Given the description of an element on the screen output the (x, y) to click on. 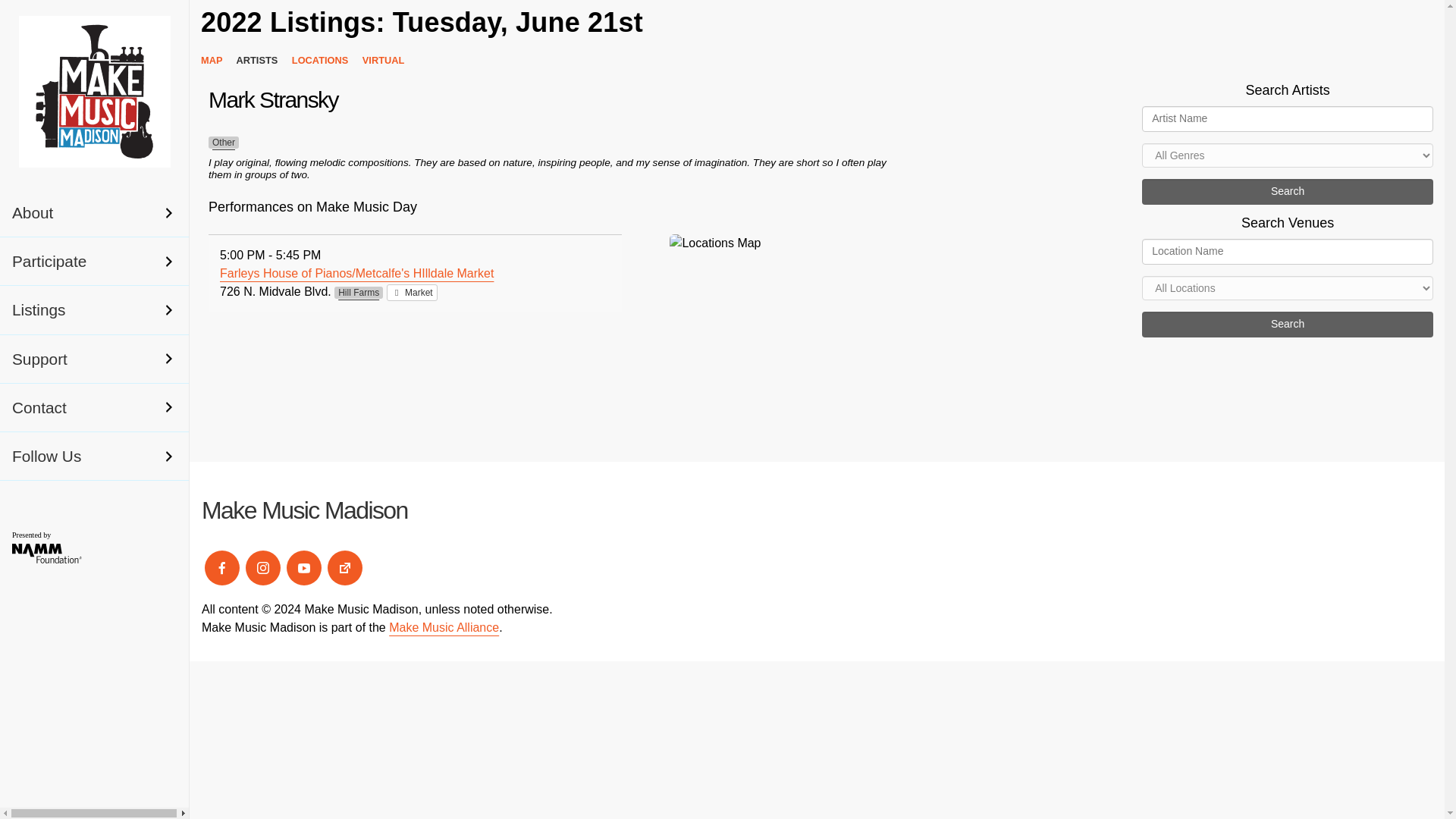
Presented by (56, 558)
Make Music Madison (304, 510)
Search (1286, 191)
Facebook (222, 567)
Instagram (263, 567)
Presented by (56, 546)
MAP (216, 60)
Participate (94, 261)
VIRTUAL (388, 60)
Donate (344, 567)
